Given the description of an element on the screen output the (x, y) to click on. 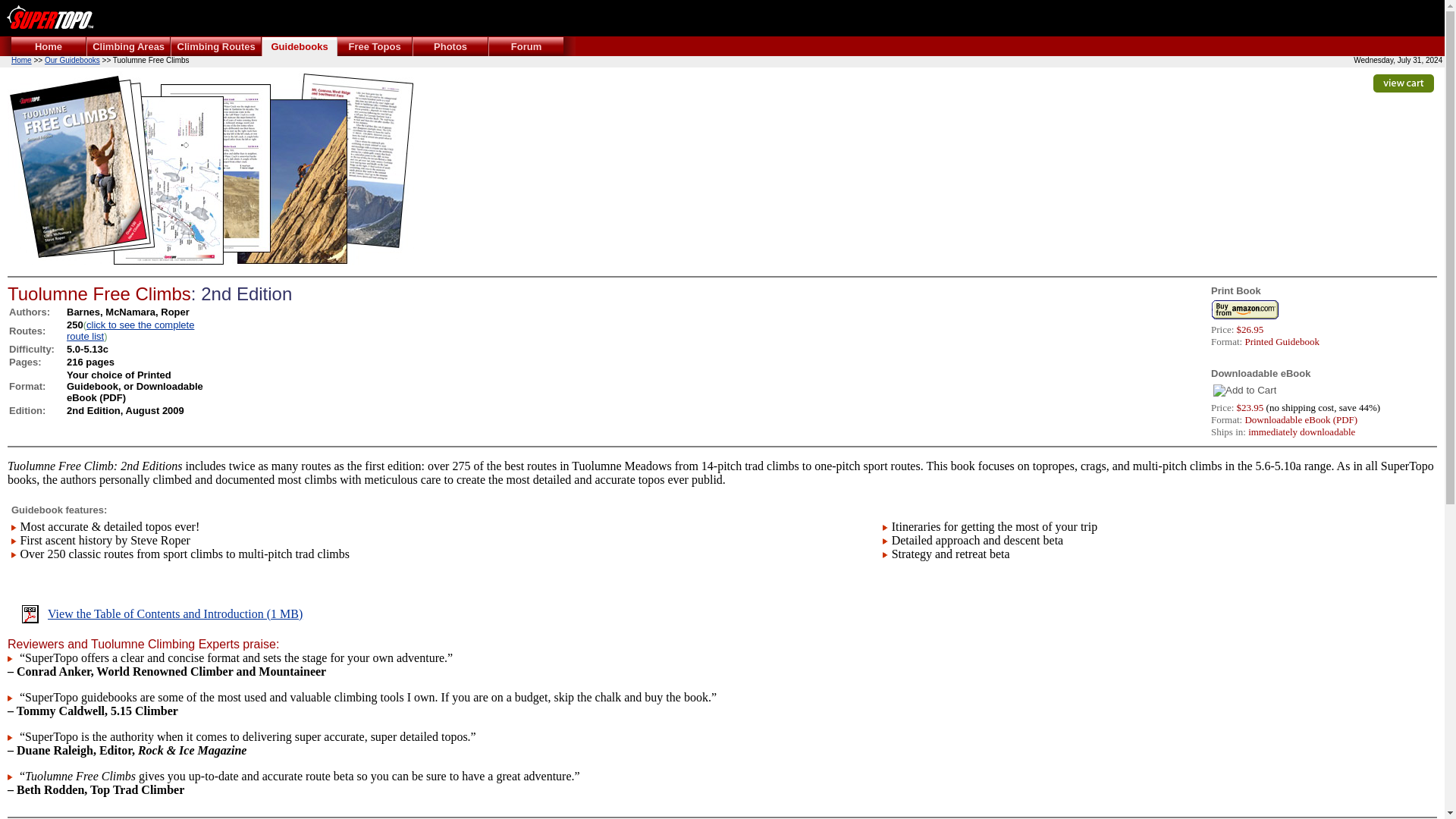
  Guidebooks   (298, 46)
click to see the complete route list (129, 330)
  Climbing Routes   (215, 46)
Home (21, 60)
  Free Topos   (374, 46)
  Photos   (450, 46)
  Home   (48, 46)
Our Guidebooks (72, 60)
  Climbing Areas   (128, 46)
  Forum   (526, 46)
